Given the description of an element on the screen output the (x, y) to click on. 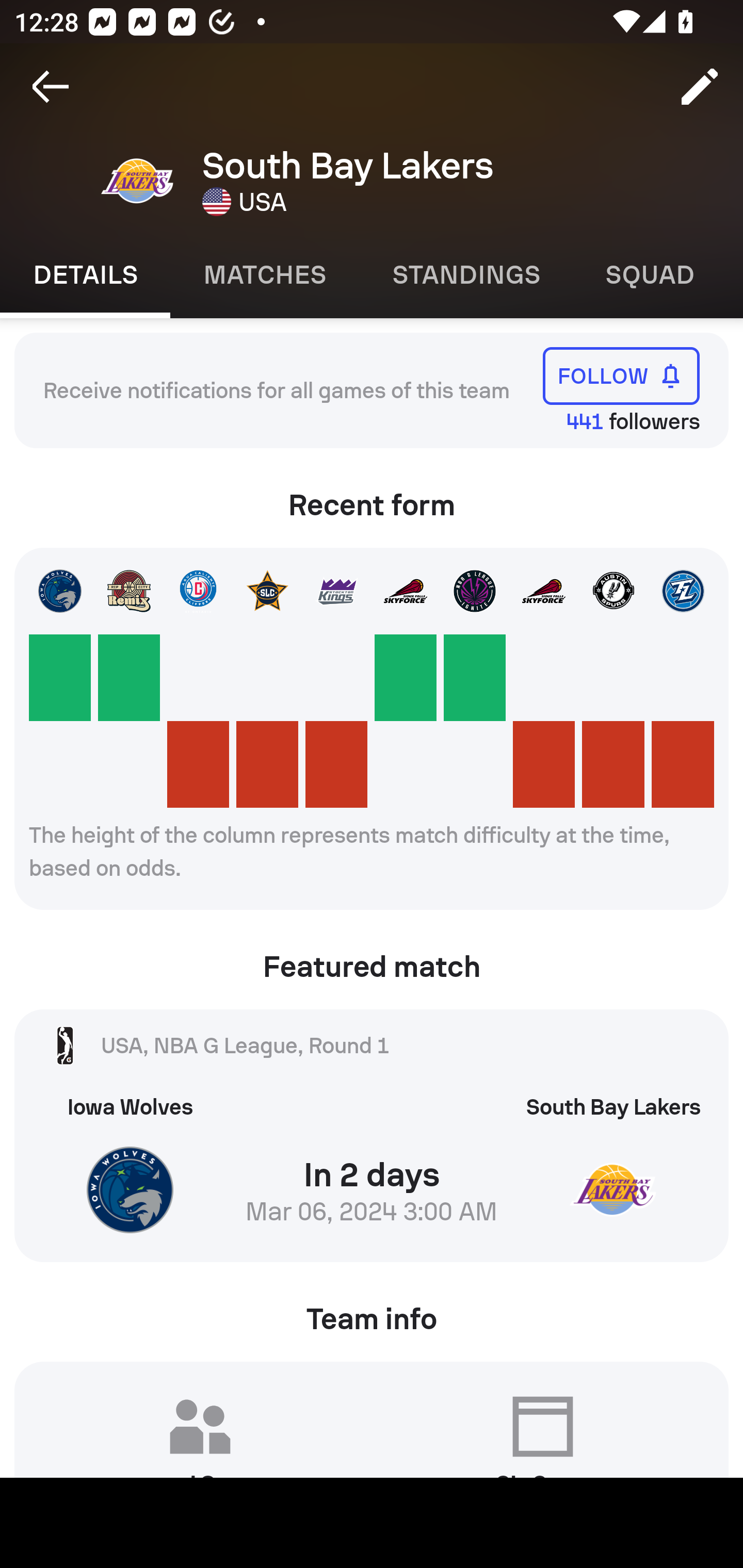
Navigate up (50, 86)
Edit (699, 86)
Matches MATCHES (264, 275)
Standings STANDINGS (465, 275)
Squad SQUAD (650, 275)
FOLLOW (621, 375)
